Given the description of an element on the screen output the (x, y) to click on. 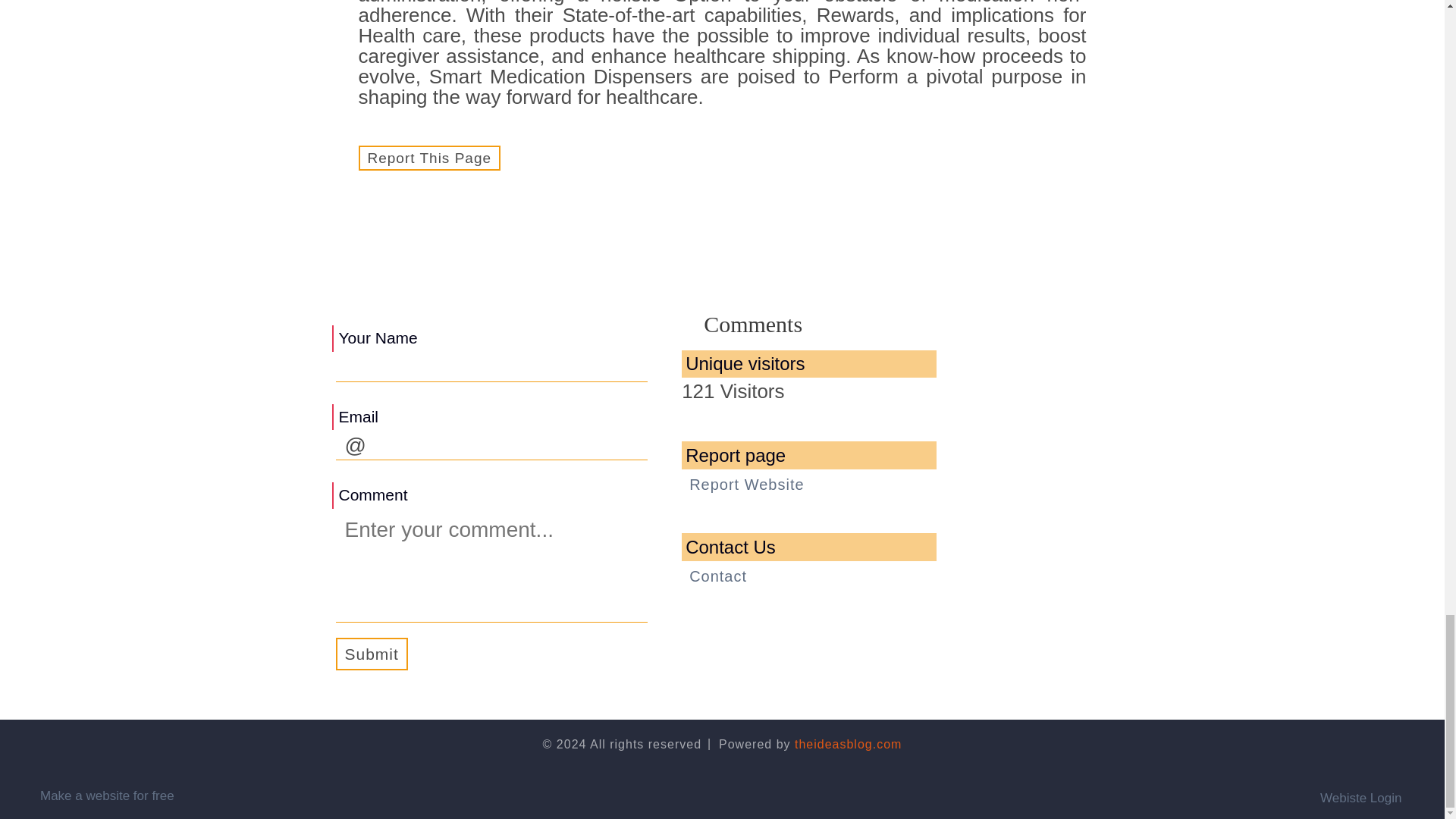
Webiste Login (1371, 795)
theideasblog.com (847, 744)
Contact (717, 576)
Make a website for free (107, 795)
Report This Page (429, 157)
Report Website (745, 484)
Submit (370, 654)
